Given the description of an element on the screen output the (x, y) to click on. 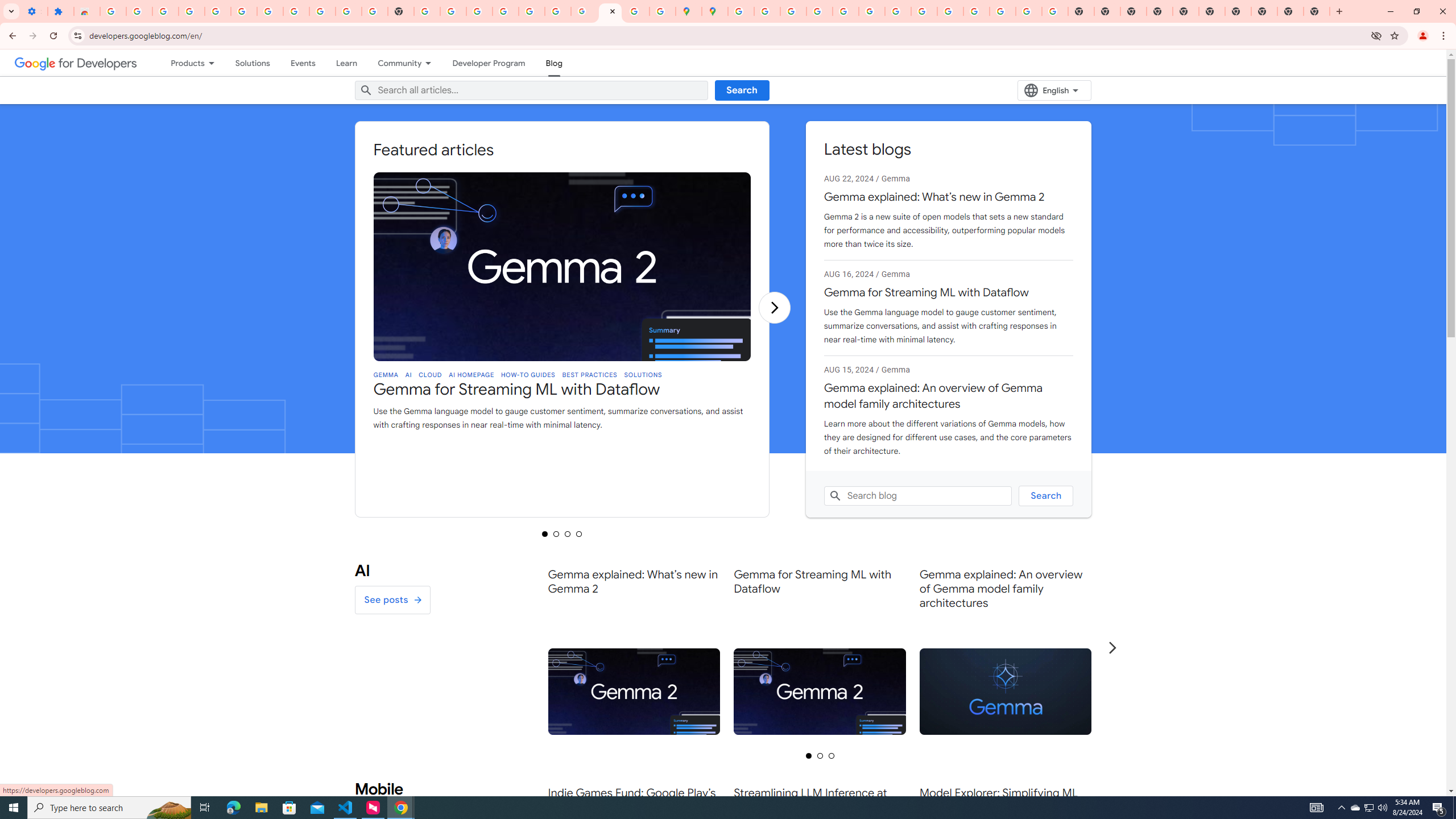
Solutions (252, 62)
Google Account (322, 11)
Community (394, 62)
Sign in - Google Accounts (269, 11)
